Given the description of an element on the screen output the (x, y) to click on. 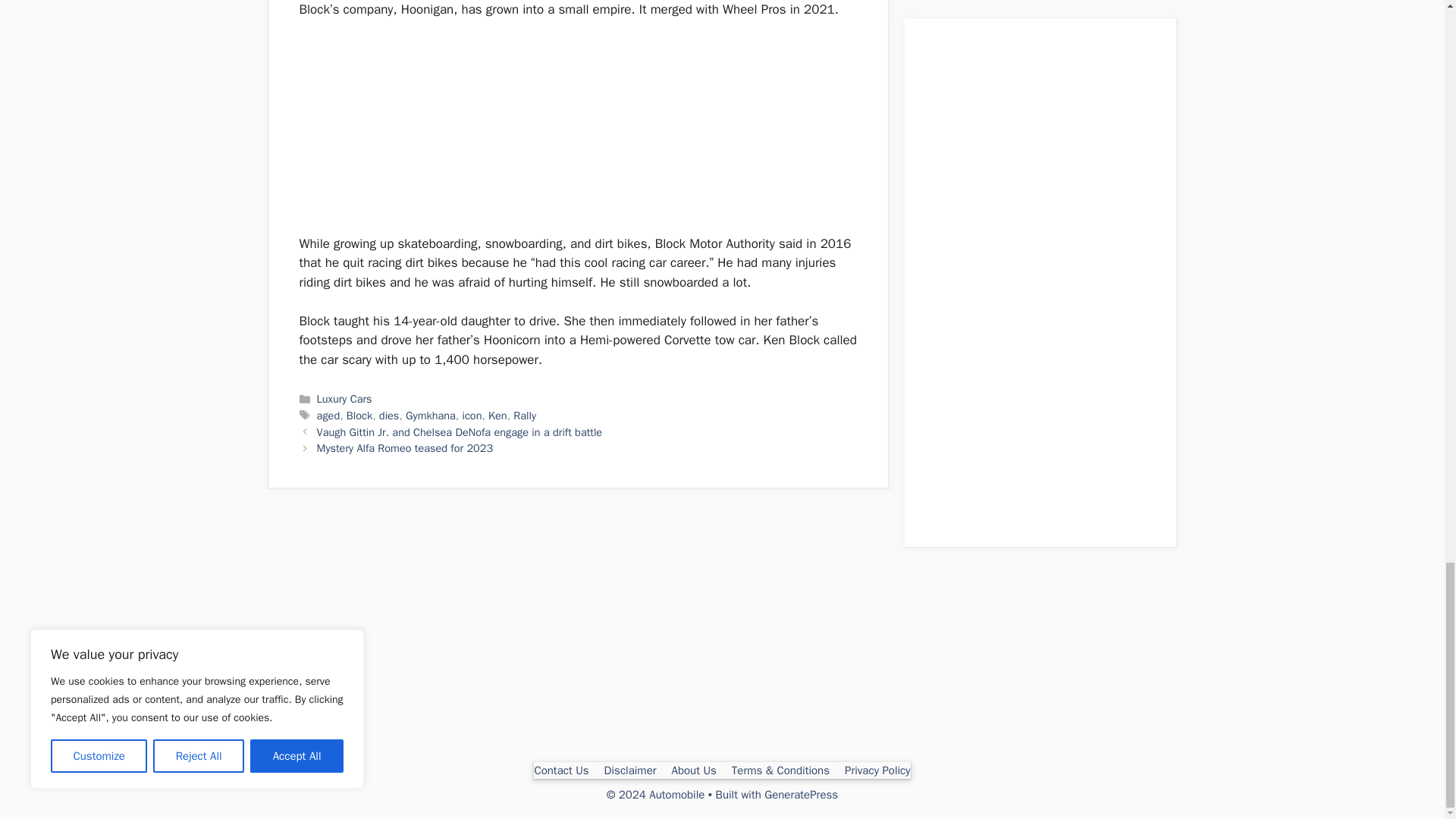
icon (471, 415)
Mystery Alfa Romeo teased for 2023 (405, 448)
Gymkhana (430, 415)
Luxury Cars (344, 398)
dies (388, 415)
Rally (524, 415)
Vaugh Gittin Jr. and Chelsea DeNofa engage in a drift battle (459, 431)
Block (359, 415)
aged (328, 415)
Ken (496, 415)
